Given the description of an element on the screen output the (x, y) to click on. 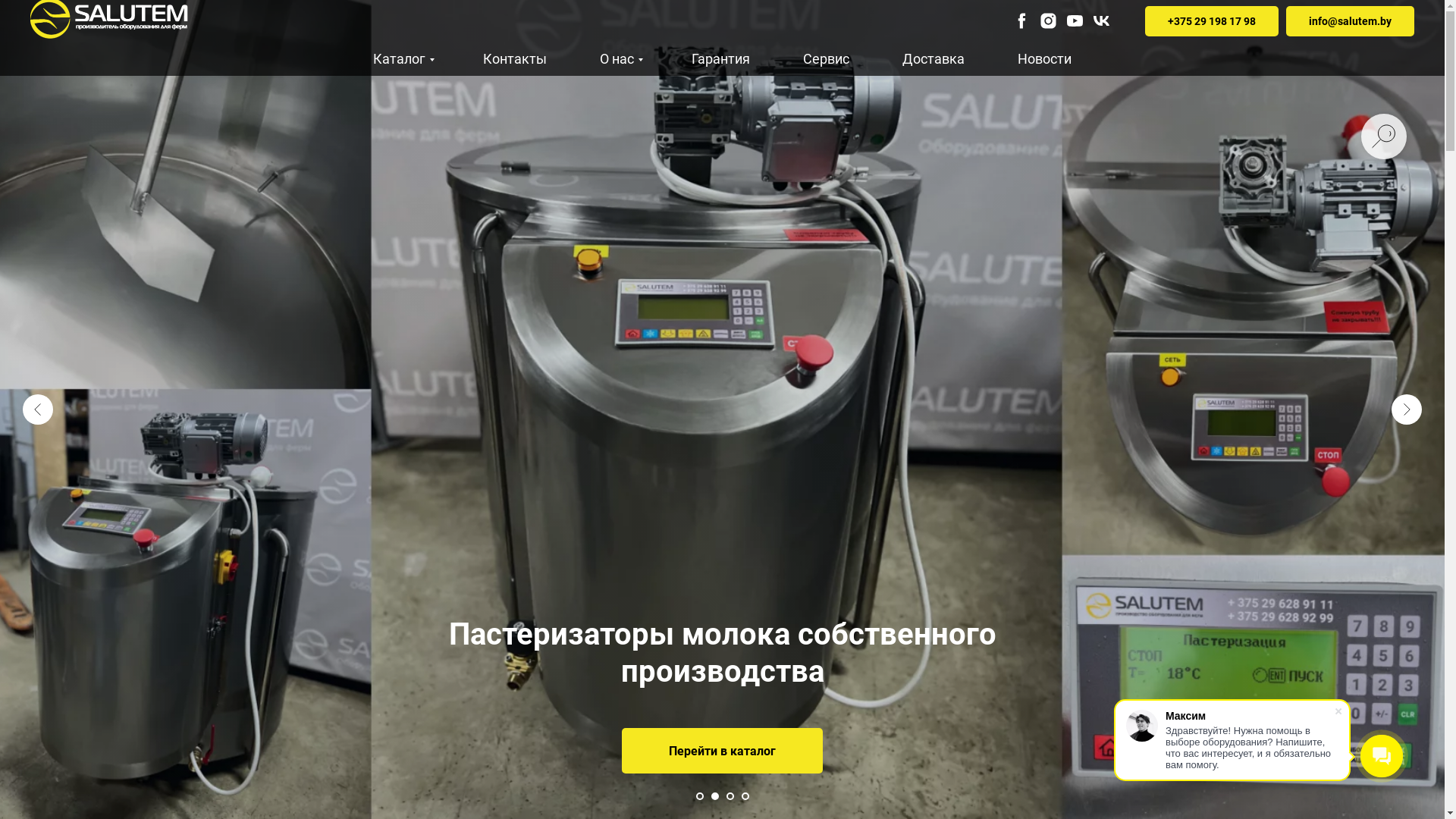
+375 29 198 17 98 Element type: text (1211, 21)
info@salutem.by Element type: text (1350, 21)
